Given the description of an element on the screen output the (x, y) to click on. 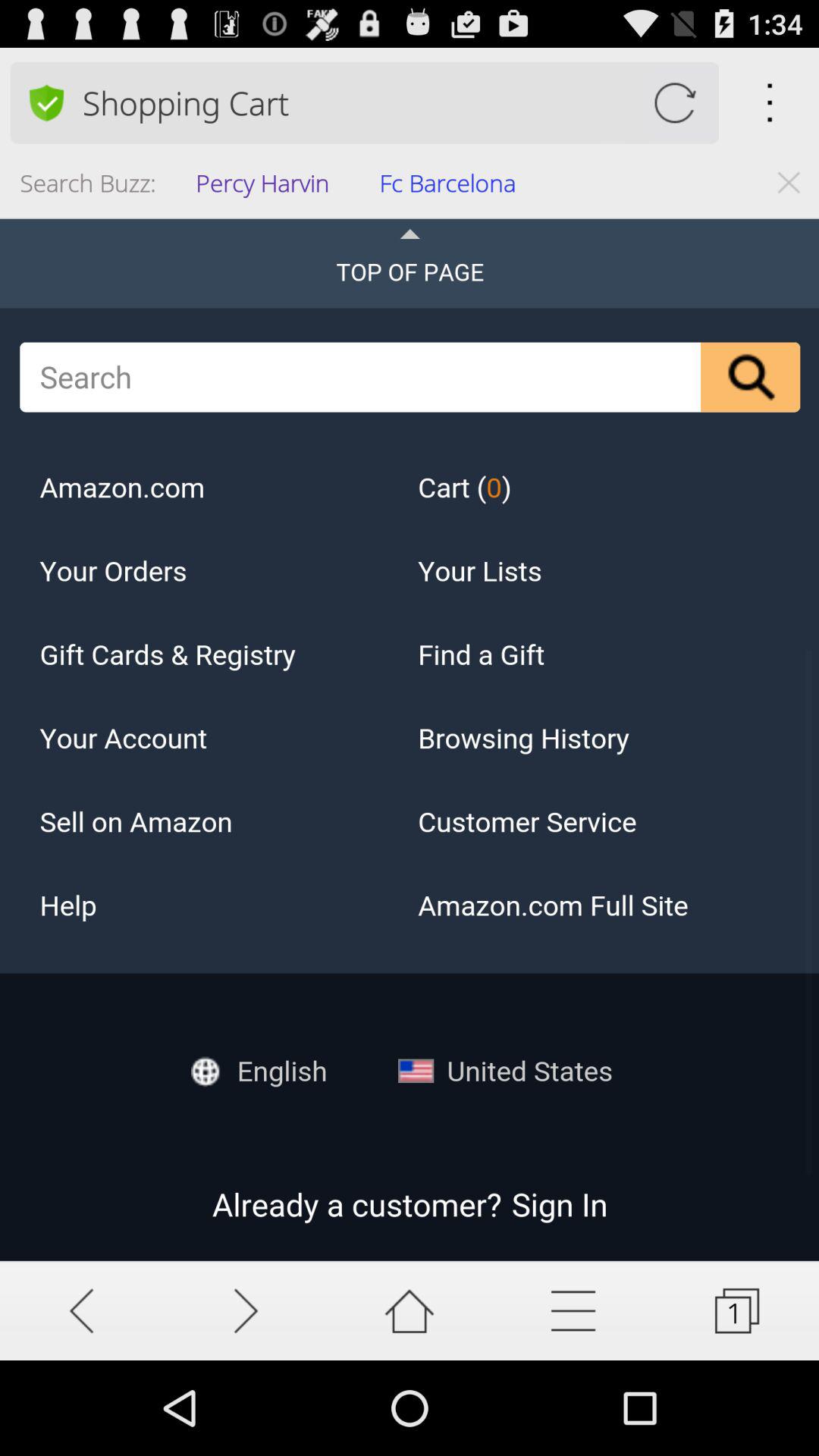
forward (245, 1310)
